Given the description of an element on the screen output the (x, y) to click on. 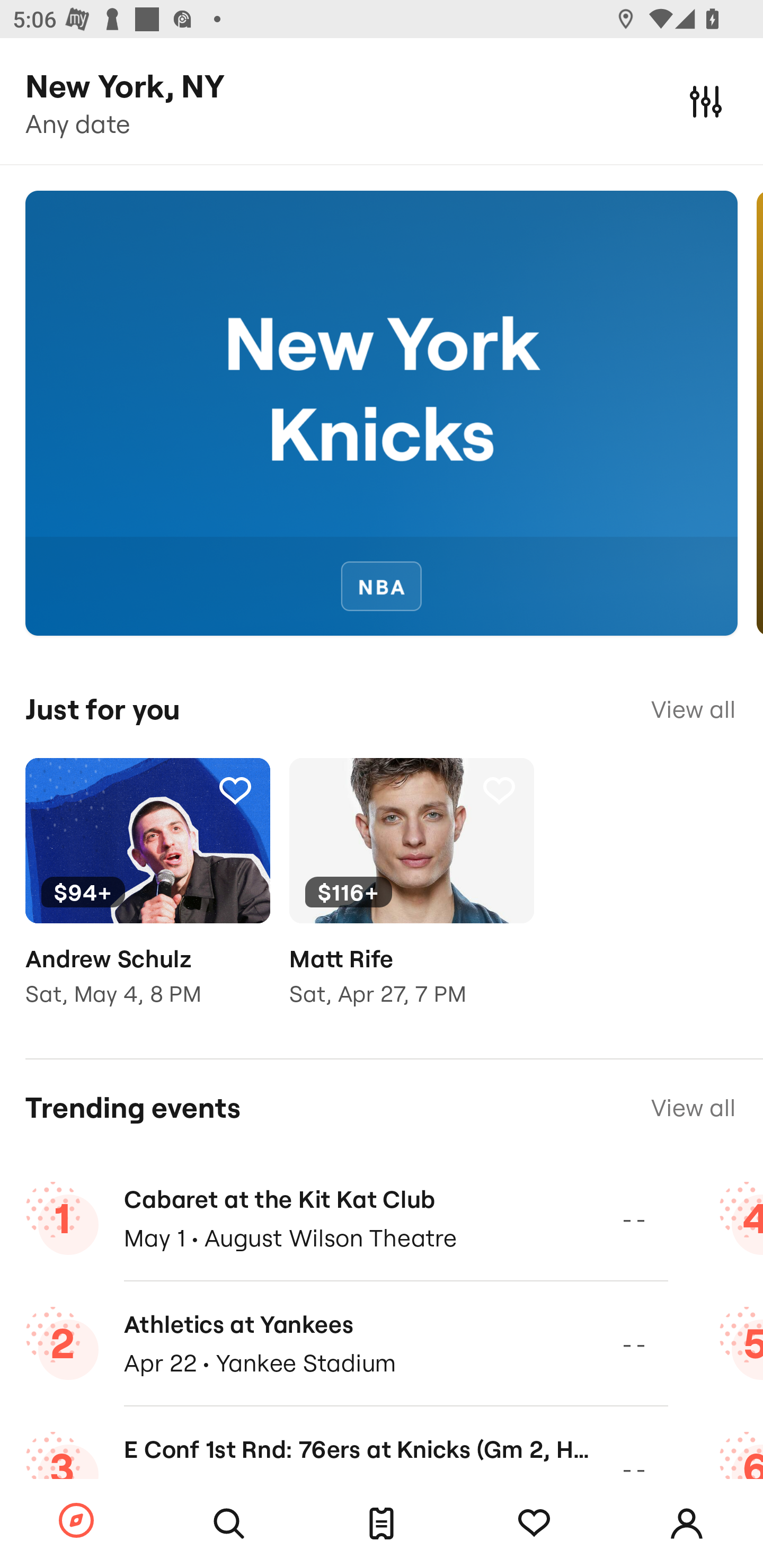
Filters (705, 100)
View all (693, 709)
Tracking $94+ Andrew Schulz Sat, May 4, 8 PM (147, 895)
Tracking $116+ Matt Rife Sat, Apr 27, 7 PM (411, 895)
Tracking (234, 790)
Tracking (498, 790)
View all (693, 1108)
Browse (76, 1521)
Search (228, 1523)
Tickets (381, 1523)
Tracking (533, 1523)
Account (686, 1523)
